Given the description of an element on the screen output the (x, y) to click on. 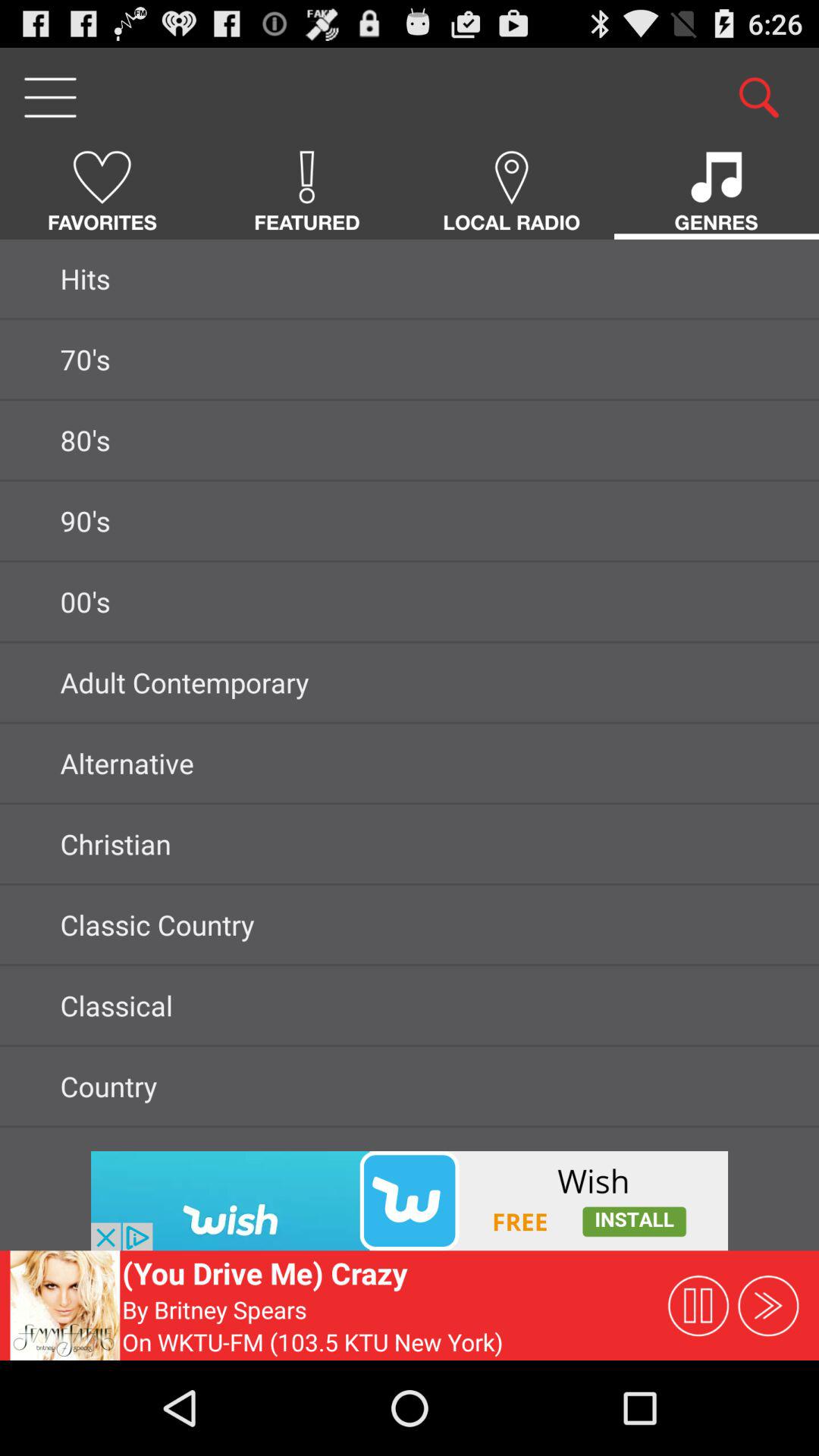
more options (49, 97)
